Given the description of an element on the screen output the (x, y) to click on. 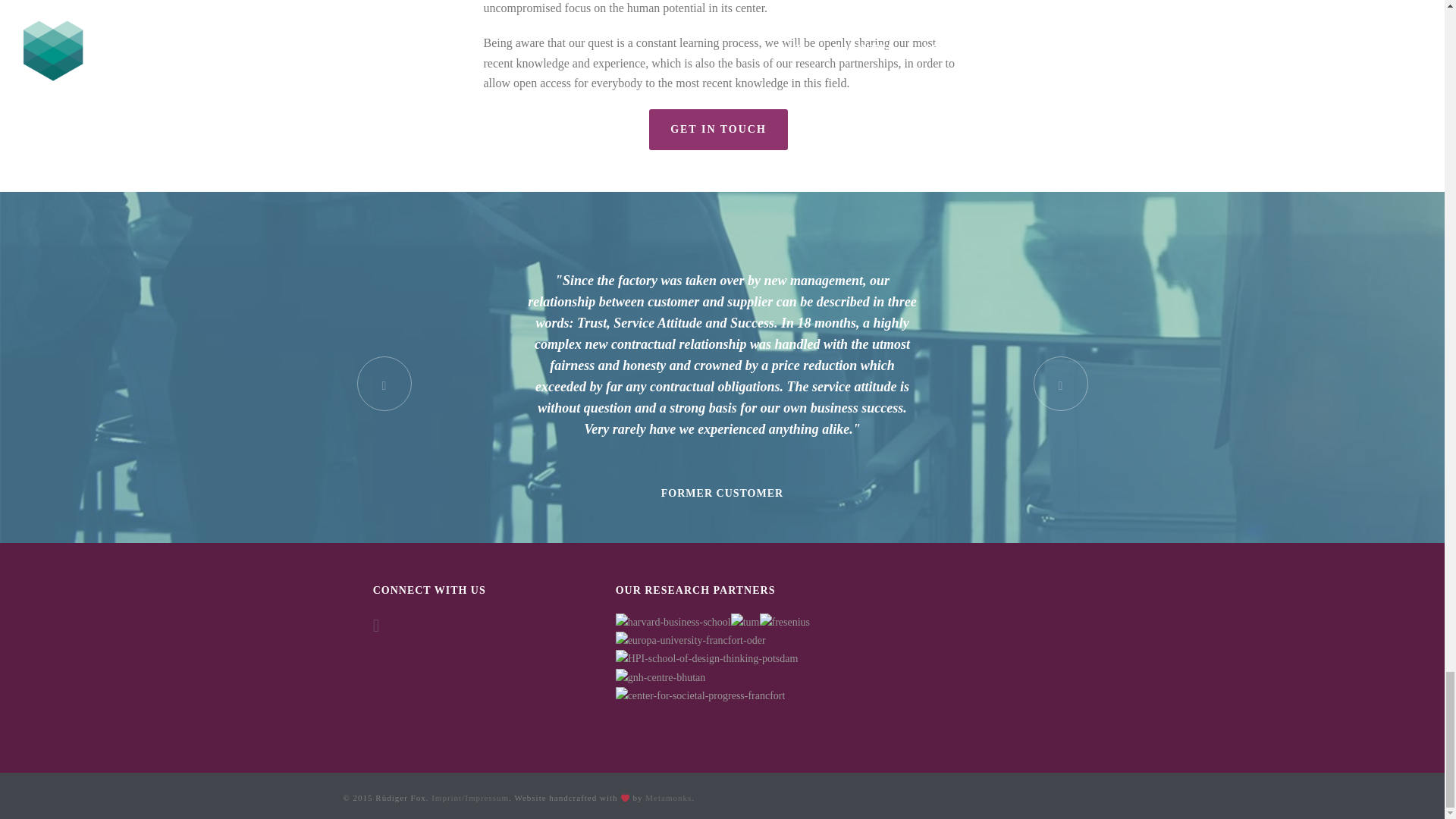
GET IN TOUCH (718, 128)
